Given the description of an element on the screen output the (x, y) to click on. 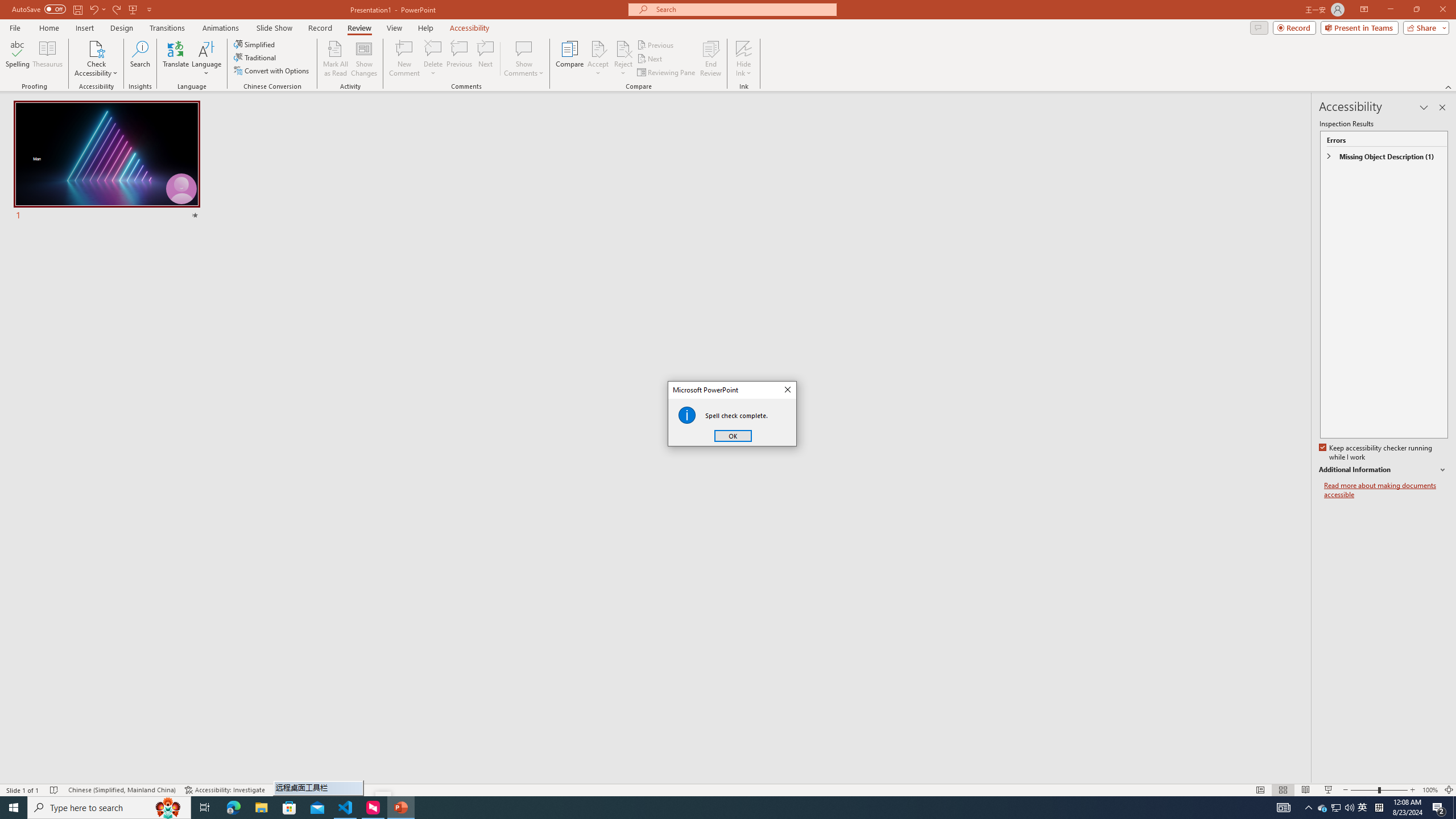
Class: Static (686, 415)
Reject Change (622, 48)
End Review (710, 58)
Language (206, 58)
Simplified (254, 44)
